Given the description of an element on the screen output the (x, y) to click on. 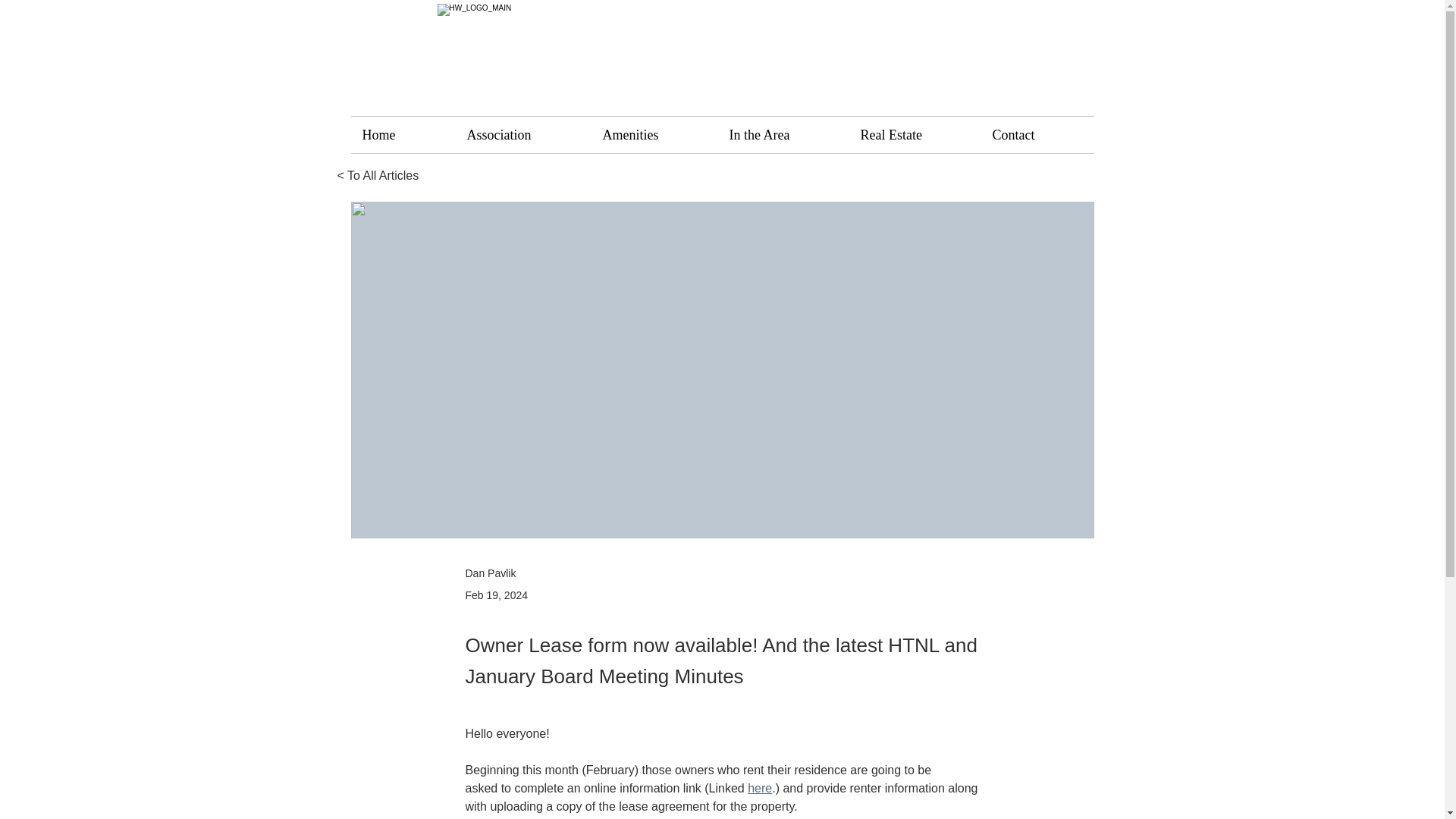
Home (402, 135)
here (759, 788)
Real Estate (914, 135)
In the Area (782, 135)
Association (522, 135)
Amenities (654, 135)
Contact (1037, 135)
